Given the description of an element on the screen output the (x, y) to click on. 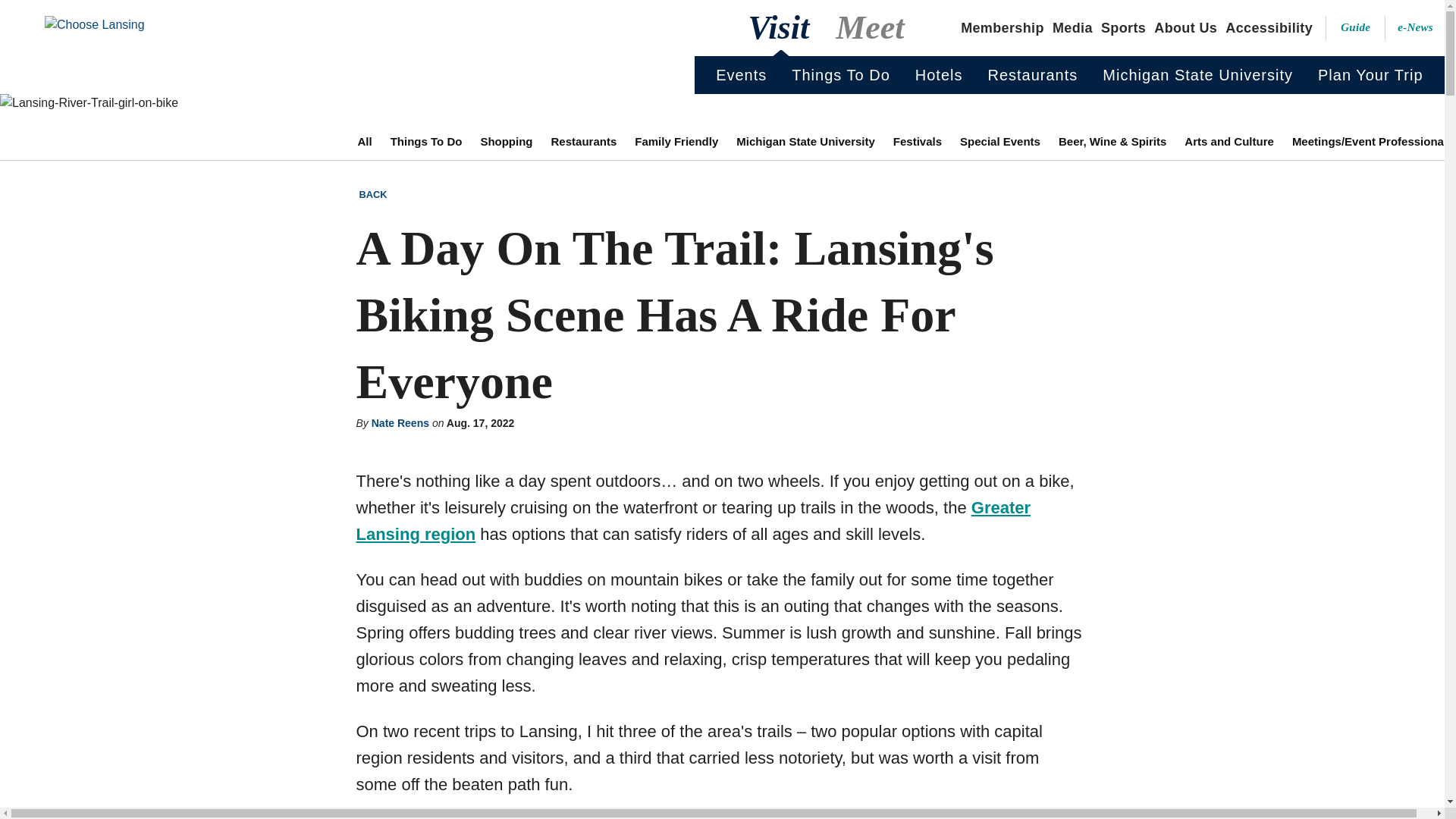
Sports (1123, 28)
Media (1072, 28)
Membership (1002, 28)
Visit (780, 28)
Meet (872, 28)
About Us (1185, 28)
